Given the description of an element on the screen output the (x, y) to click on. 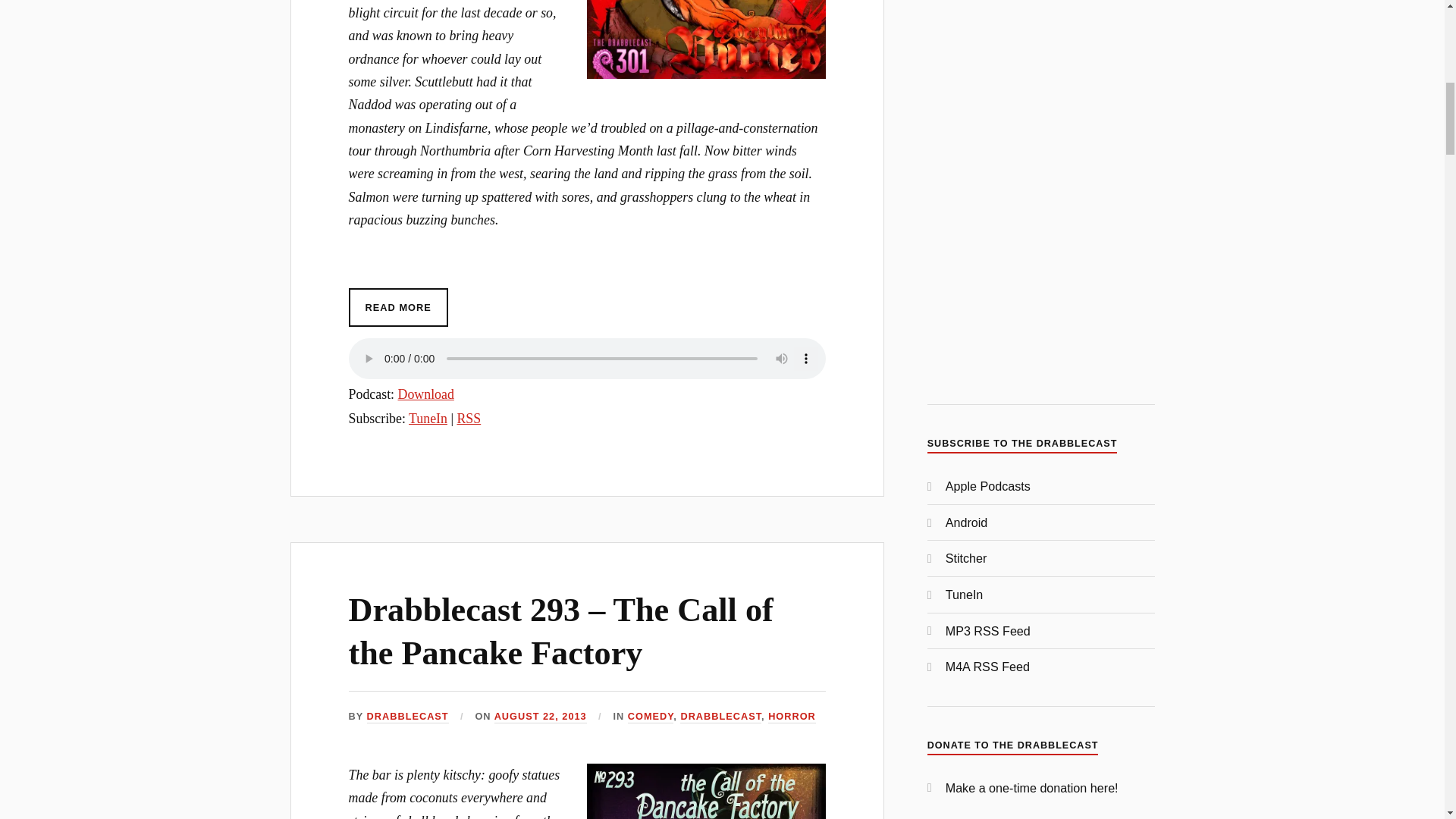
READ MORE (398, 307)
Posts by Drabblecast (407, 716)
Subscribe on TuneIn (427, 418)
Subscribe via RSS (468, 418)
Download (425, 394)
